Given the description of an element on the screen output the (x, y) to click on. 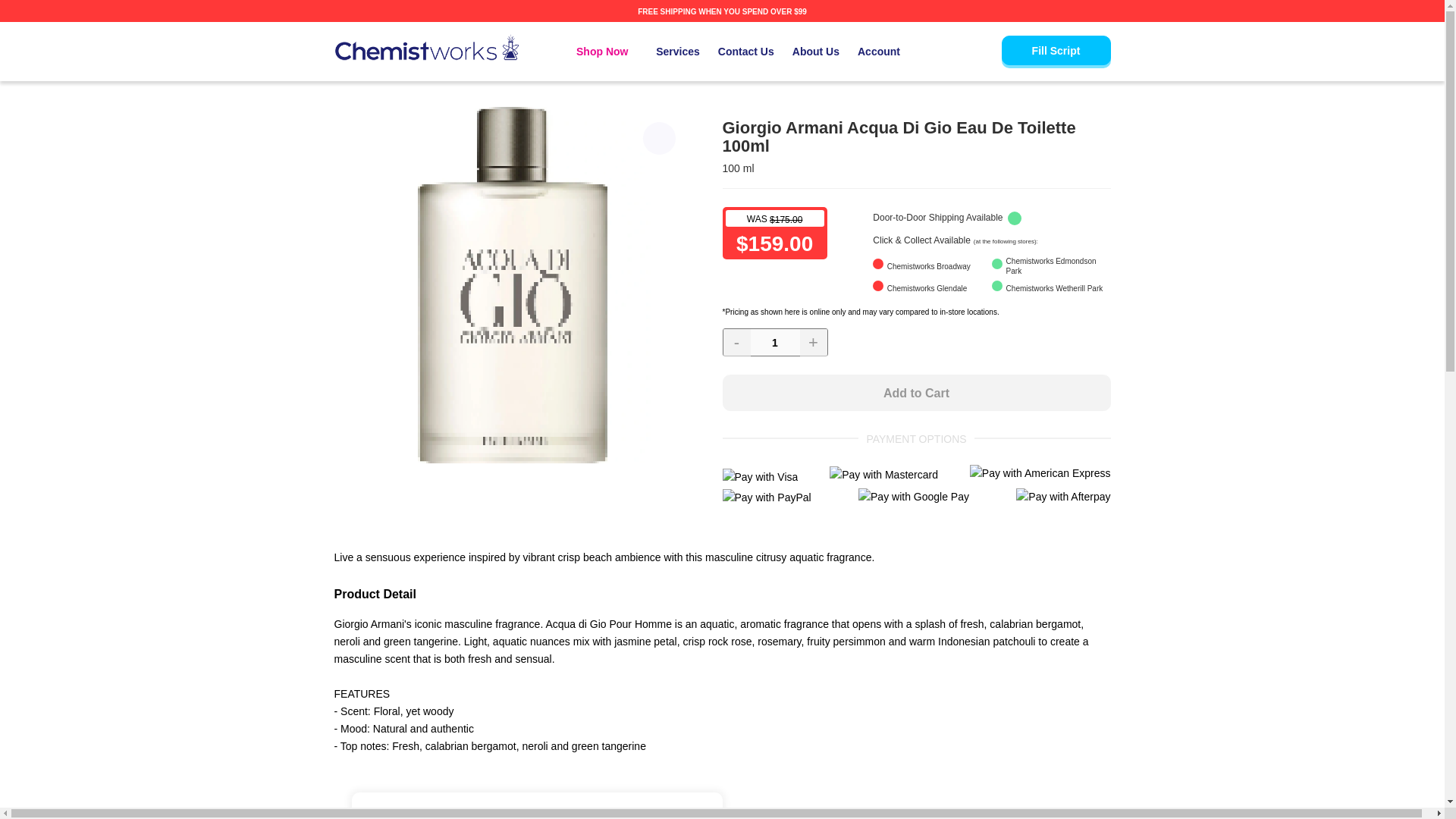
Chemistworks Pharmacy (425, 47)
About Us (815, 51)
Account (878, 51)
Fill Script (1055, 50)
Account (878, 51)
Services (677, 51)
Services (677, 51)
About Us (815, 51)
Shop Now (606, 51)
Chemistworks Pharmacy (425, 47)
